Given the description of an element on the screen output the (x, y) to click on. 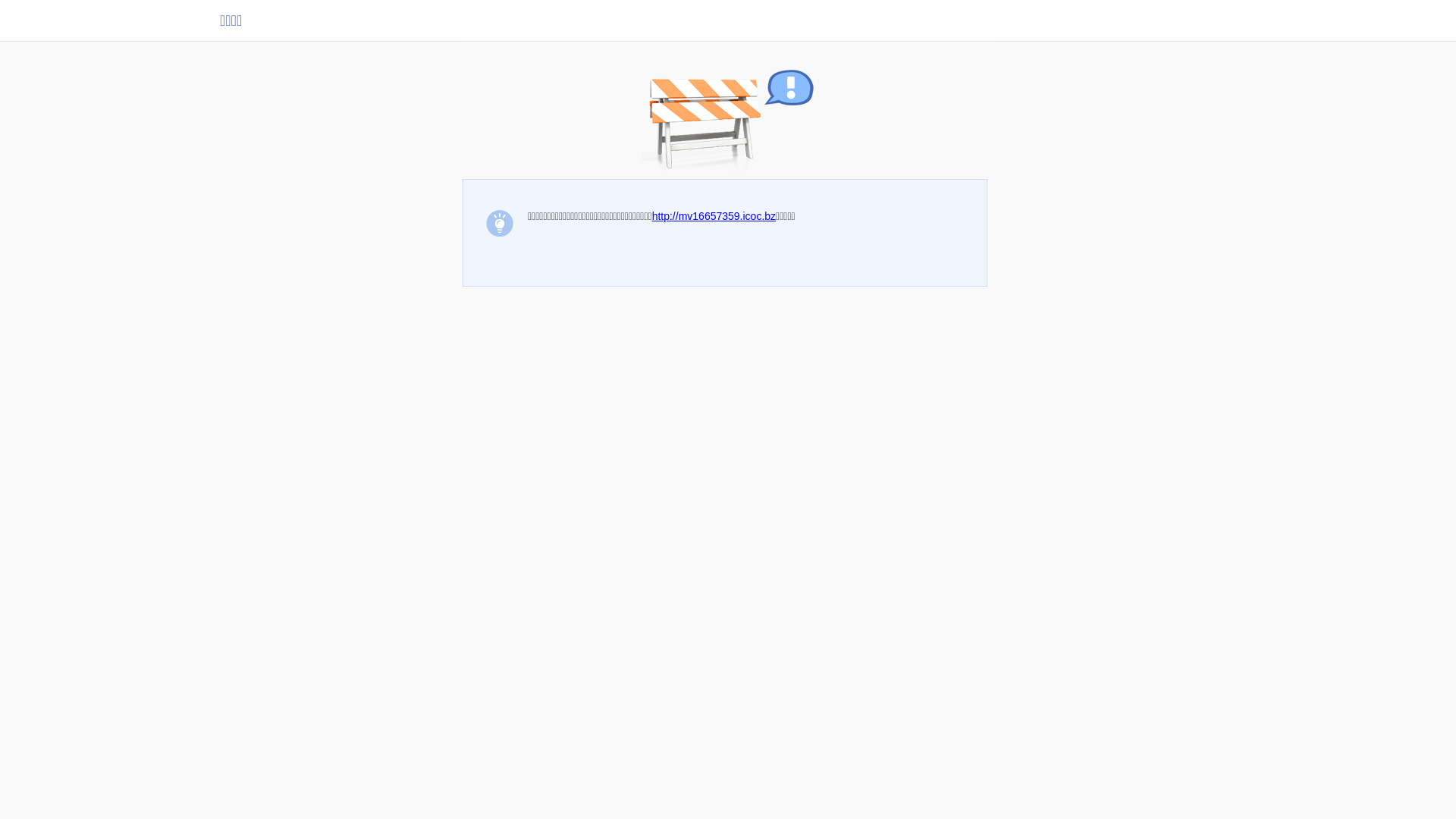
http://mv16657359.icoc.bz Element type: text (713, 216)
